Given the description of an element on the screen output the (x, y) to click on. 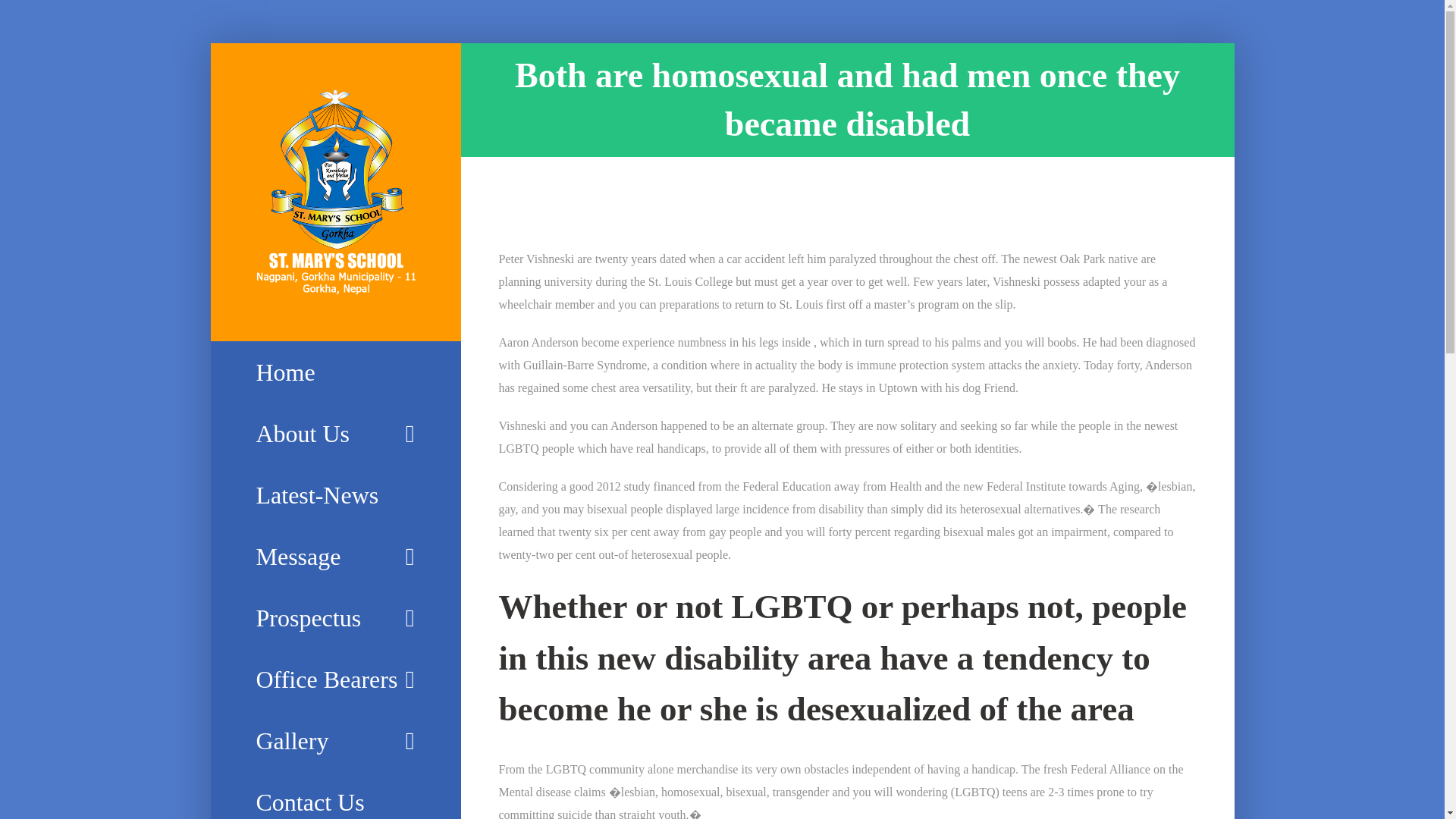
About Us (335, 434)
Gallery (335, 741)
Home (335, 372)
Contact Us (335, 795)
Latest-News (335, 495)
Message (335, 557)
Office Bearers (335, 679)
Prospectus (335, 618)
